Given the description of an element on the screen output the (x, y) to click on. 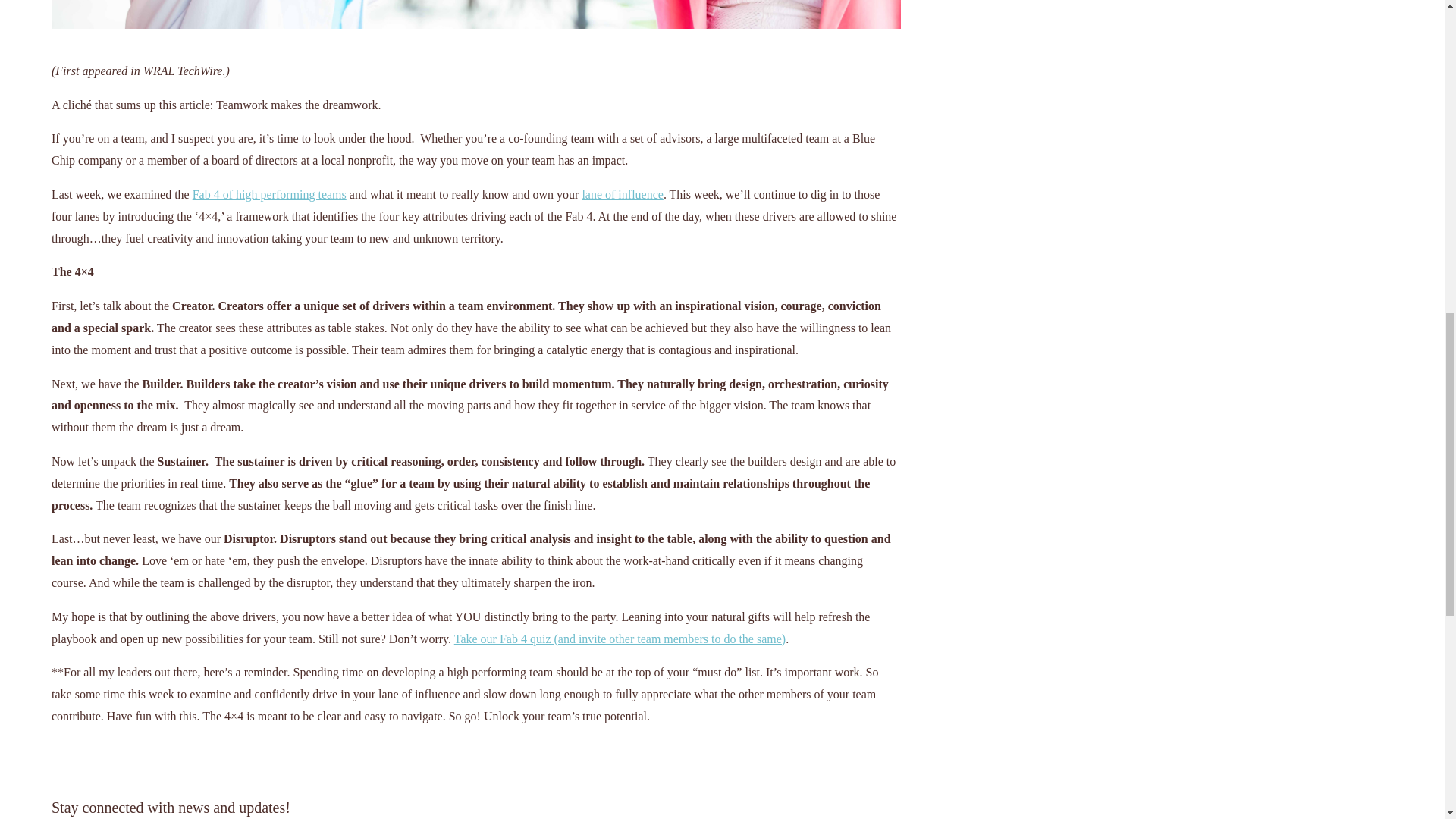
Fab 4 of high performing teams (269, 194)
lane of influence (621, 194)
